Given the description of an element on the screen output the (x, y) to click on. 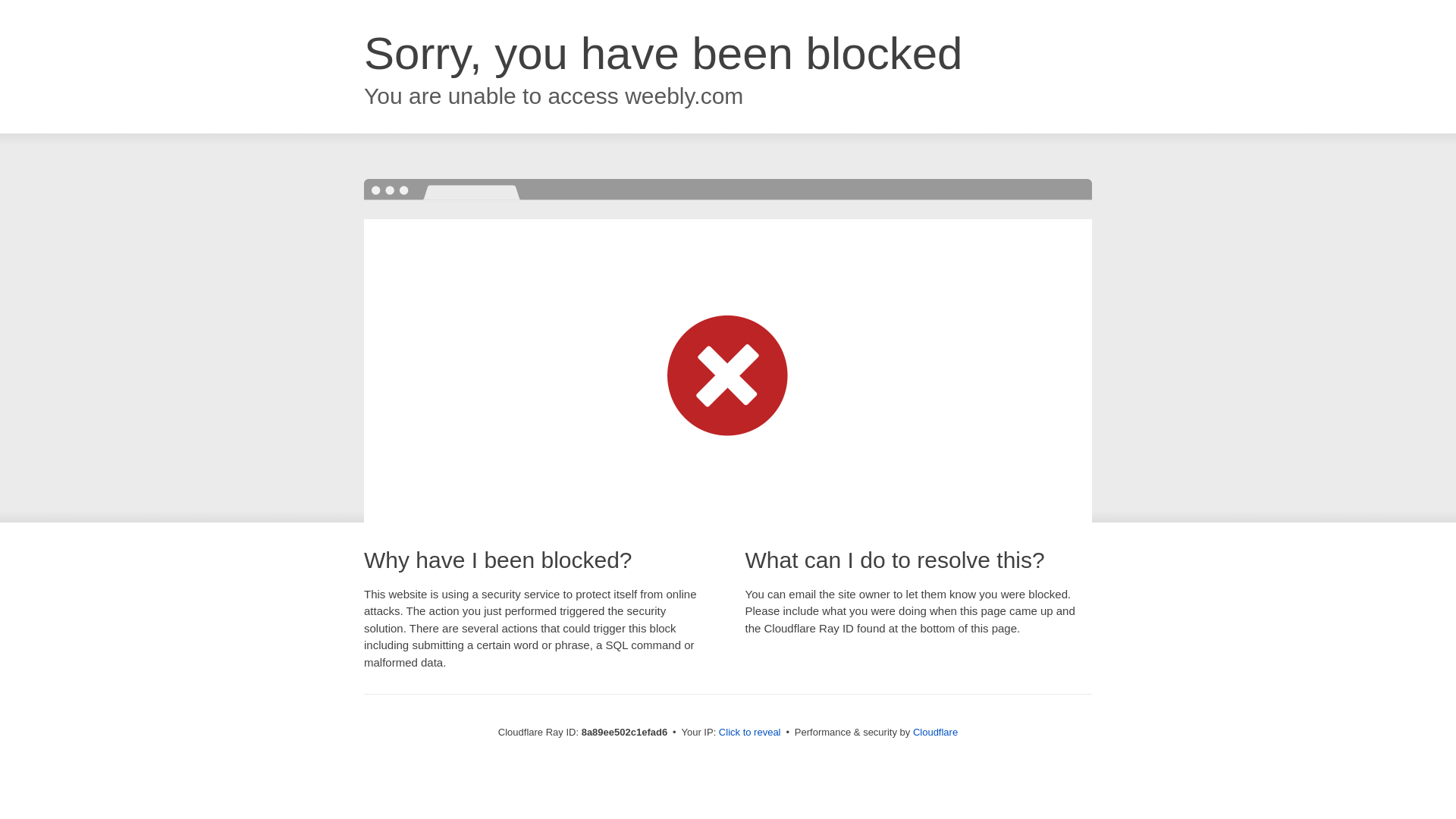
Cloudflare (935, 731)
Click to reveal (749, 732)
